Given the description of an element on the screen output the (x, y) to click on. 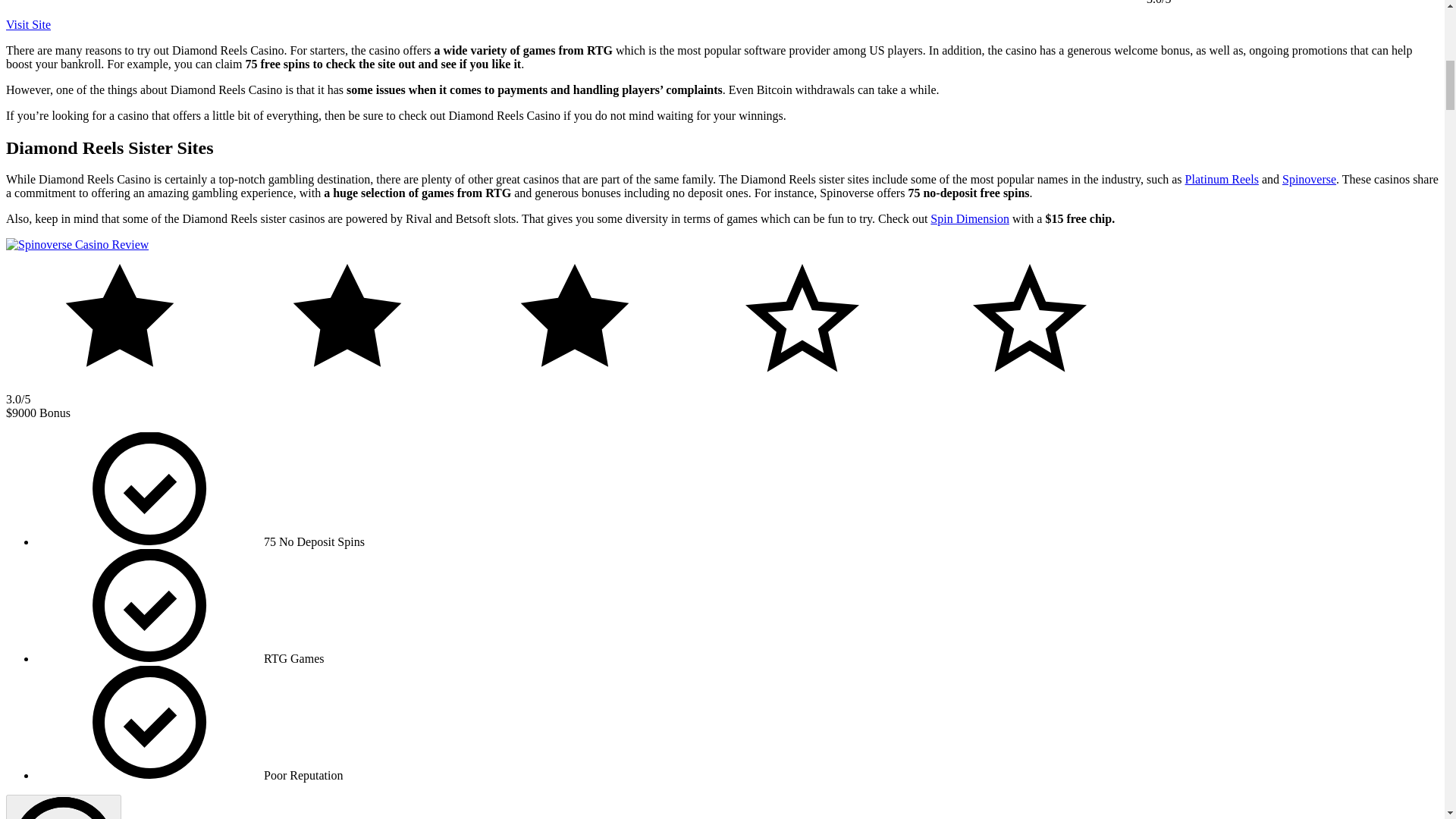
Spin Dimension (969, 218)
Platinum Reels (1222, 178)
Show more Show less (62, 806)
Visit Site (27, 24)
Spinoverse (1309, 178)
